Given the description of an element on the screen output the (x, y) to click on. 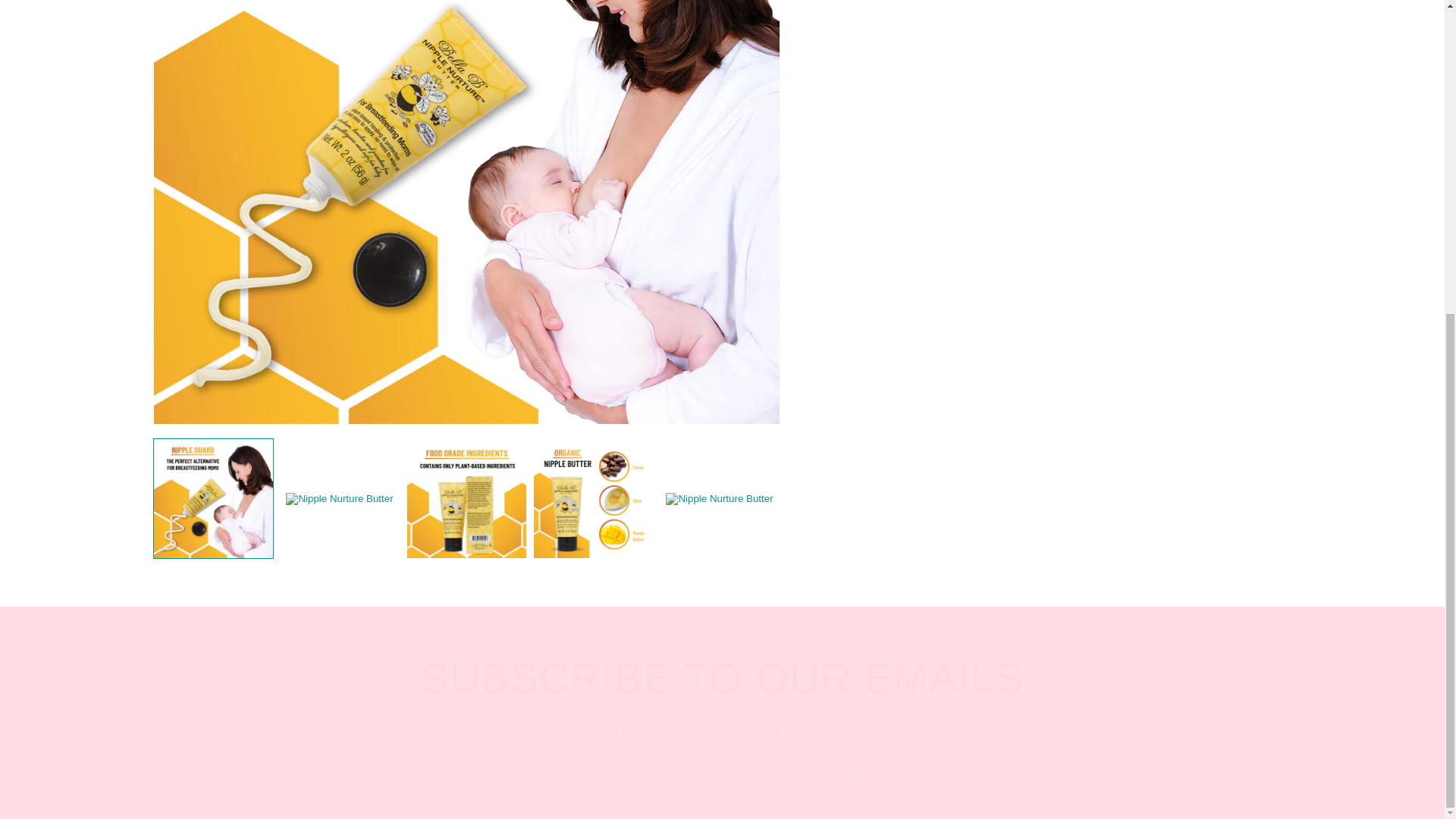
Email (722, 773)
SUBSCRIBE TO OUR EMAILS (721, 677)
